Given the description of an element on the screen output the (x, y) to click on. 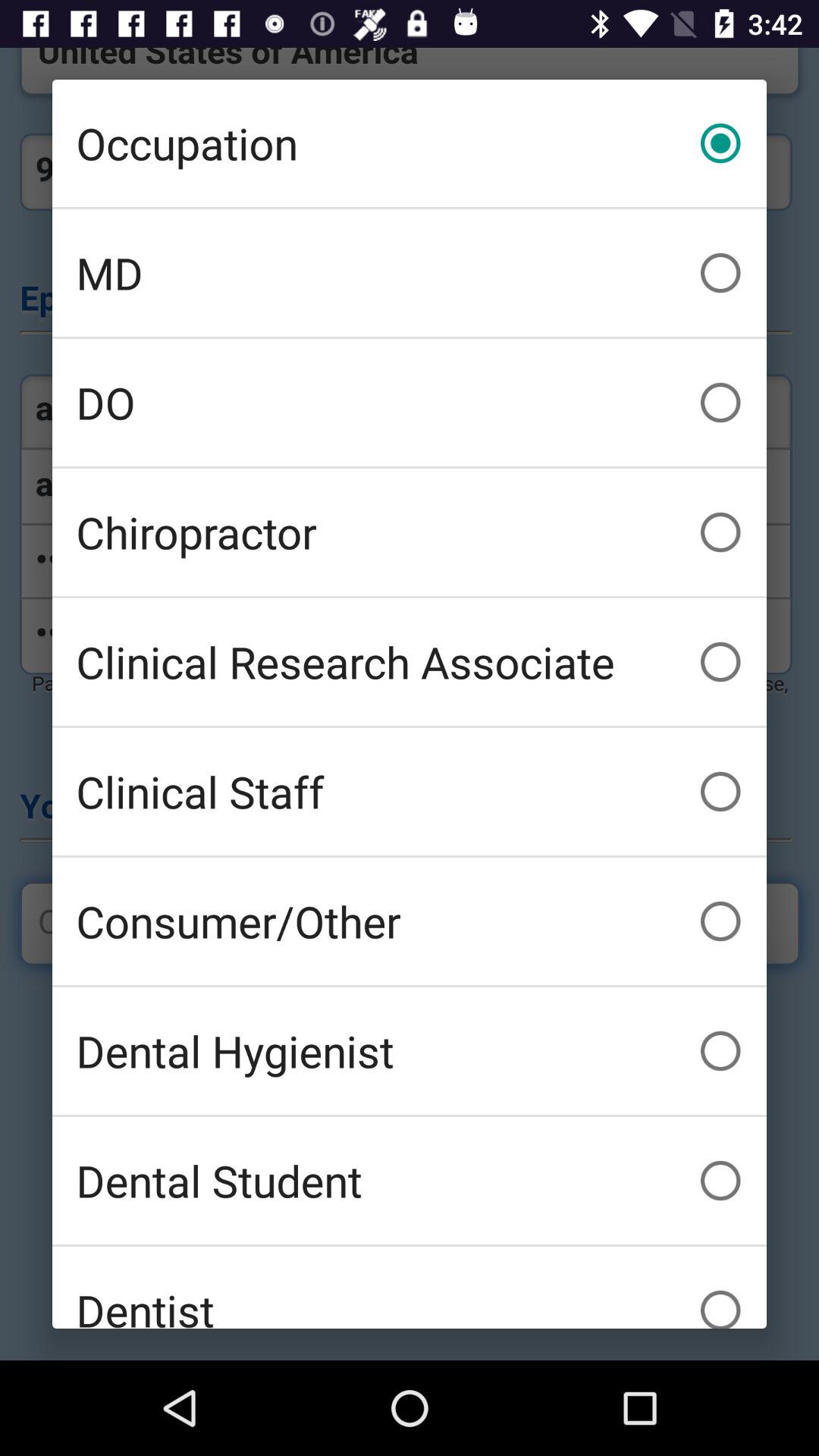
choose icon above clinical research associate icon (409, 532)
